Given the description of an element on the screen output the (x, y) to click on. 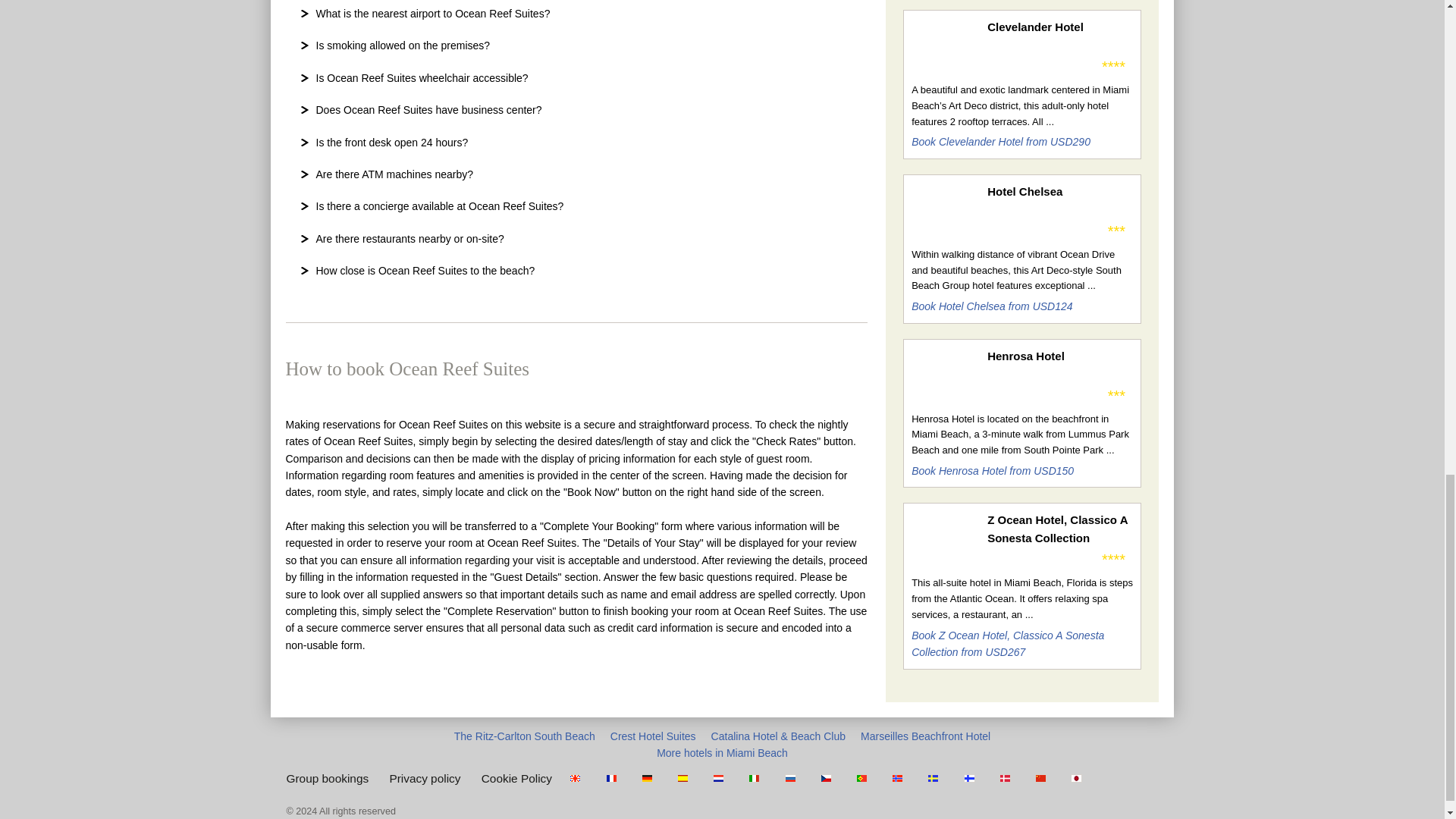
Clevelander Hotel (1059, 27)
More hotels in Miami Beach (721, 752)
Hotel Chelsea (1059, 191)
The Ritz-Carlton South Beach (524, 736)
Book Hotel Chelsea from USD124 (991, 306)
Crest Hotel Suites (652, 736)
Book Clevelander Hotel from USD290 (1000, 141)
Cookie Policy (516, 778)
Marseilles Beachfront Hotel (925, 736)
Group bookings (327, 778)
Henrosa Hotel (1059, 356)
Privacy policy (424, 778)
Book Henrosa Hotel from USD150 (992, 470)
Z Ocean Hotel, Classico A Sonesta Collection (1059, 529)
